Given the description of an element on the screen output the (x, y) to click on. 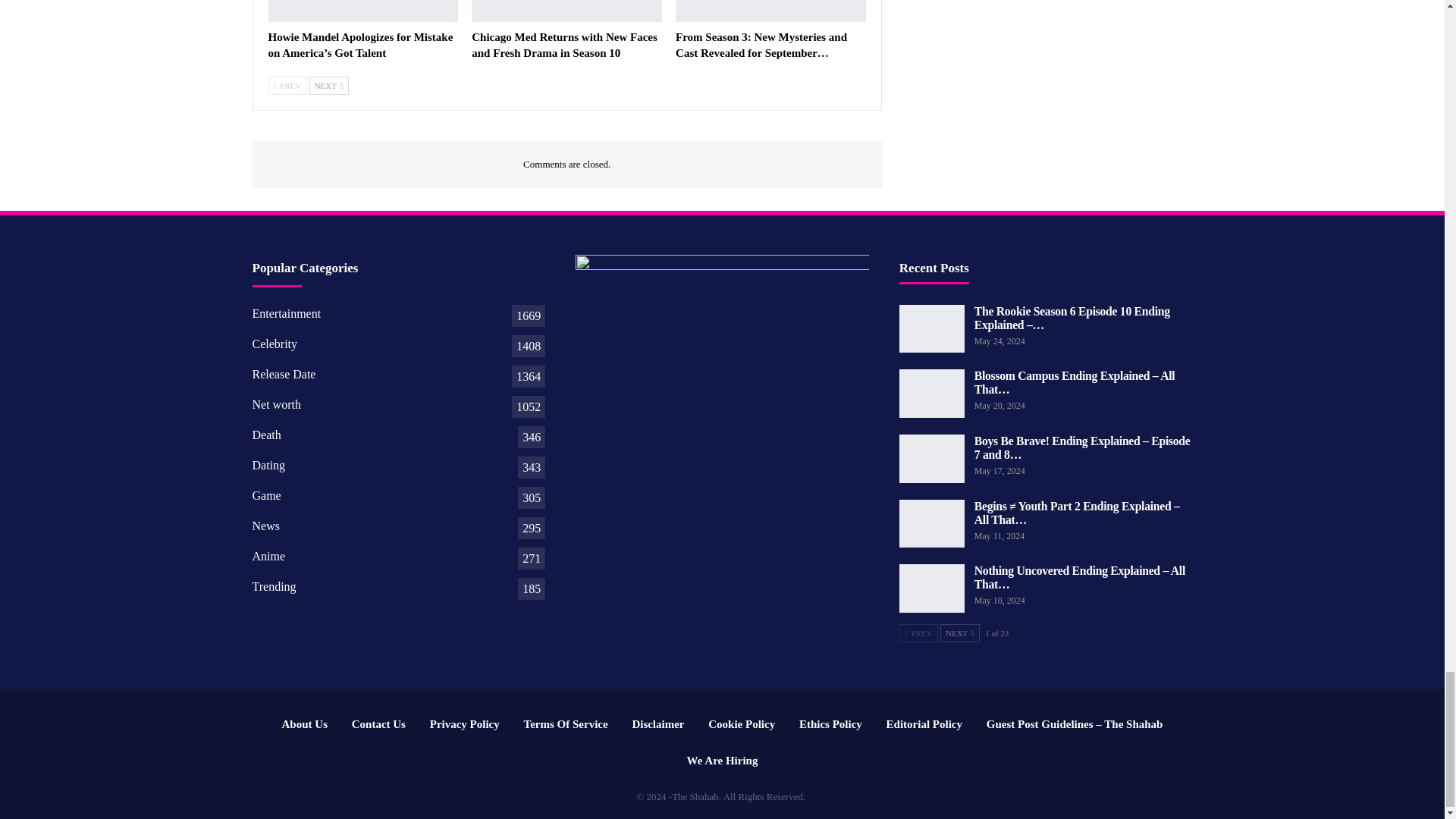
Previous (287, 85)
Next (328, 85)
